Given the description of an element on the screen output the (x, y) to click on. 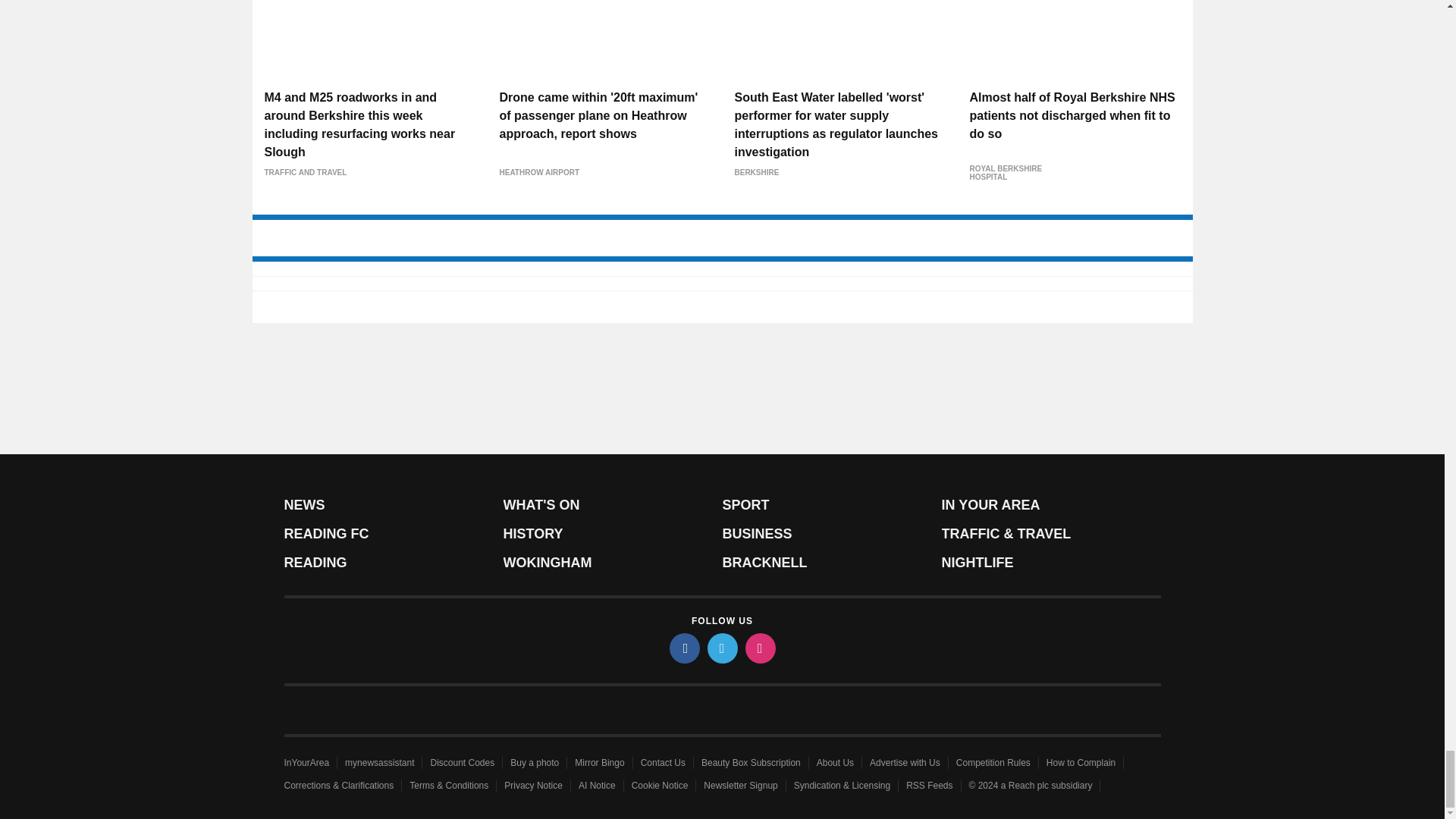
instagram (759, 648)
facebook (683, 648)
twitter (721, 648)
